Given the description of an element on the screen output the (x, y) to click on. 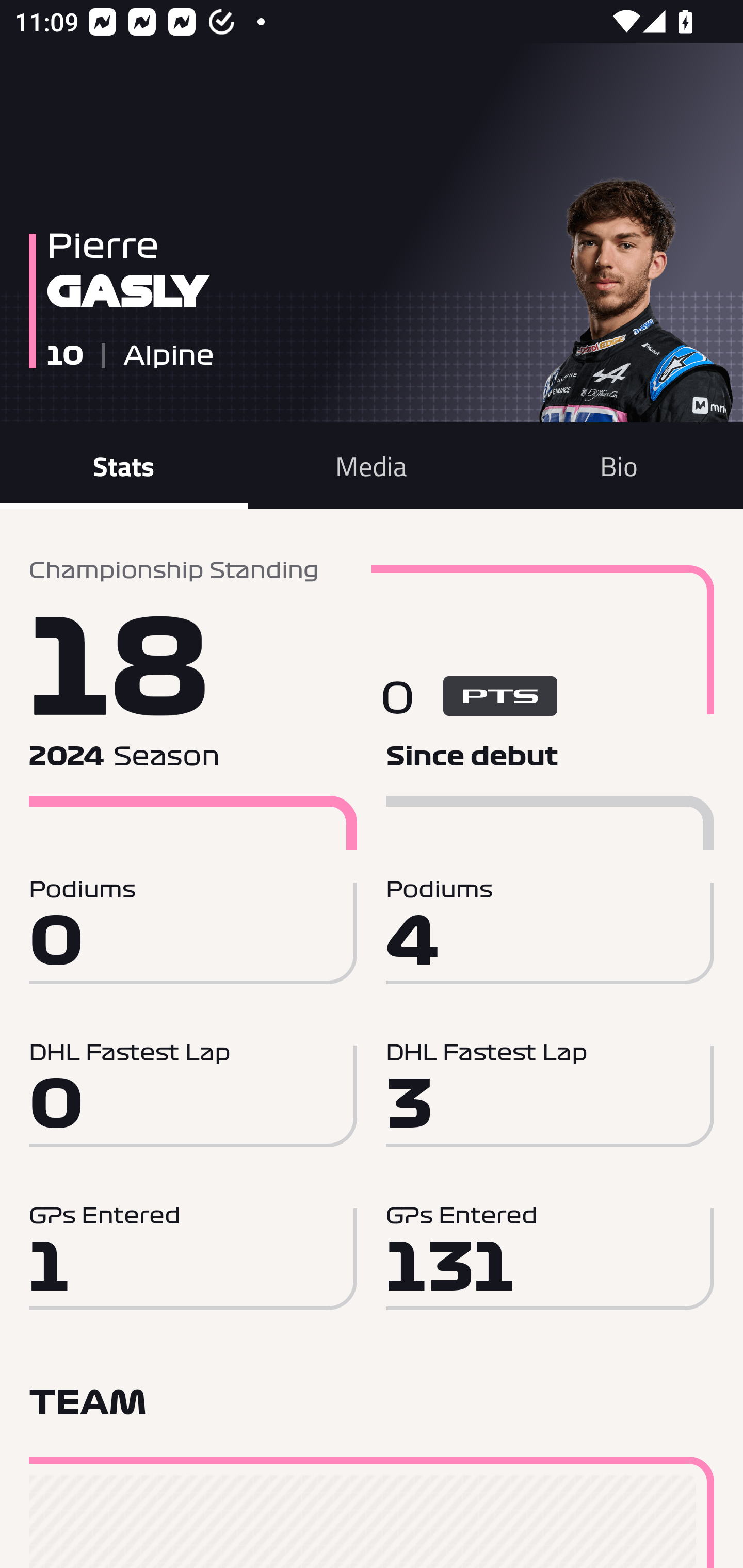
Media (371, 465)
Bio (619, 465)
